Given the description of an element on the screen output the (x, y) to click on. 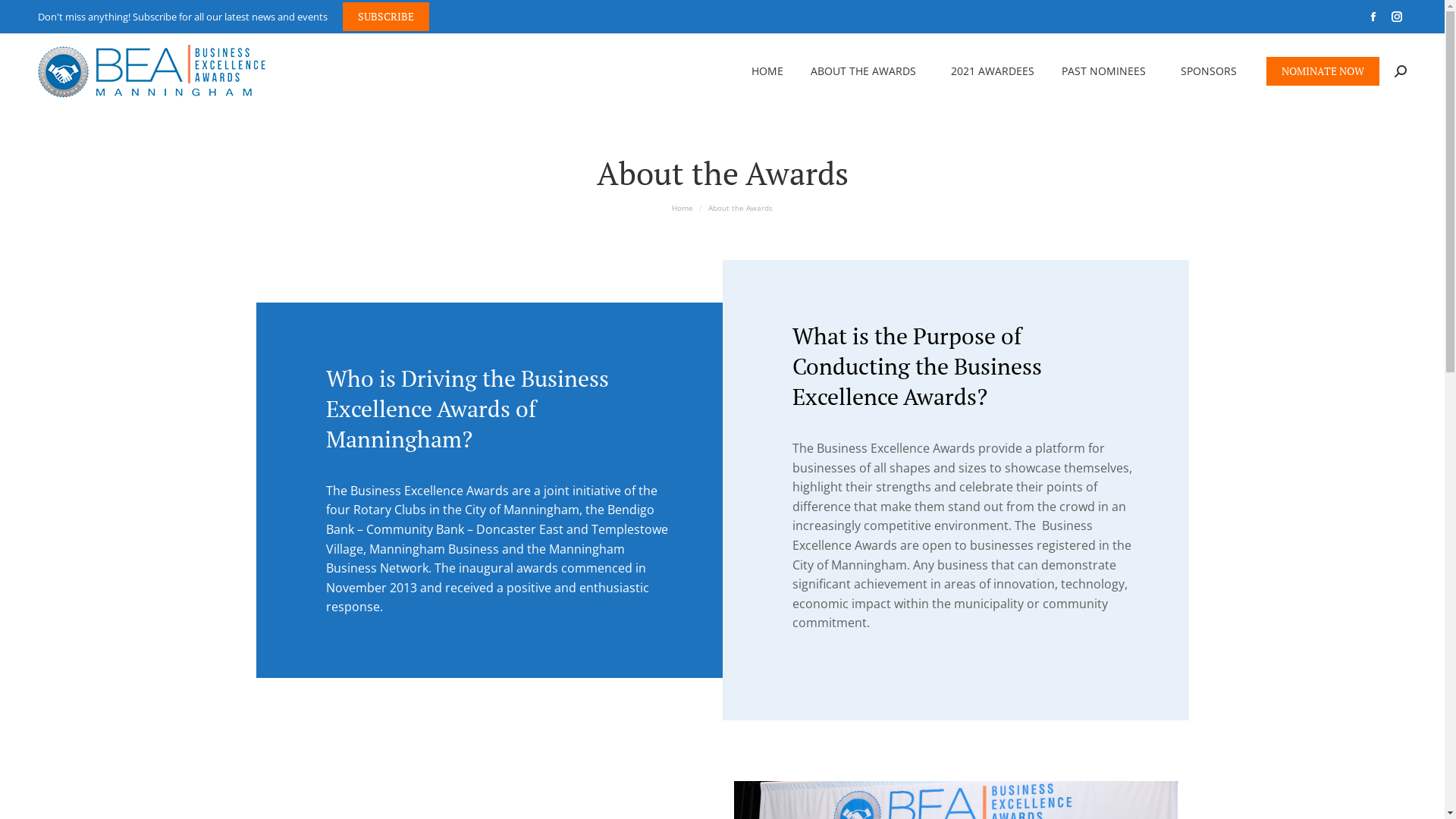
SPONSORS Element type: text (1212, 70)
Go! Element type: text (24, 16)
SUBSCRIBE Element type: text (385, 16)
ABOUT THE AWARDS Element type: text (866, 70)
Home Element type: text (682, 207)
NOMINATE NOW Element type: text (1322, 70)
2021 AWARDEES Element type: text (992, 70)
Facebook page opens in new window Element type: text (1373, 16)
Instagram page opens in new window Element type: text (1396, 16)
PAST NOMINEES Element type: text (1107, 70)
HOME Element type: text (767, 70)
